Given the description of an element on the screen output the (x, y) to click on. 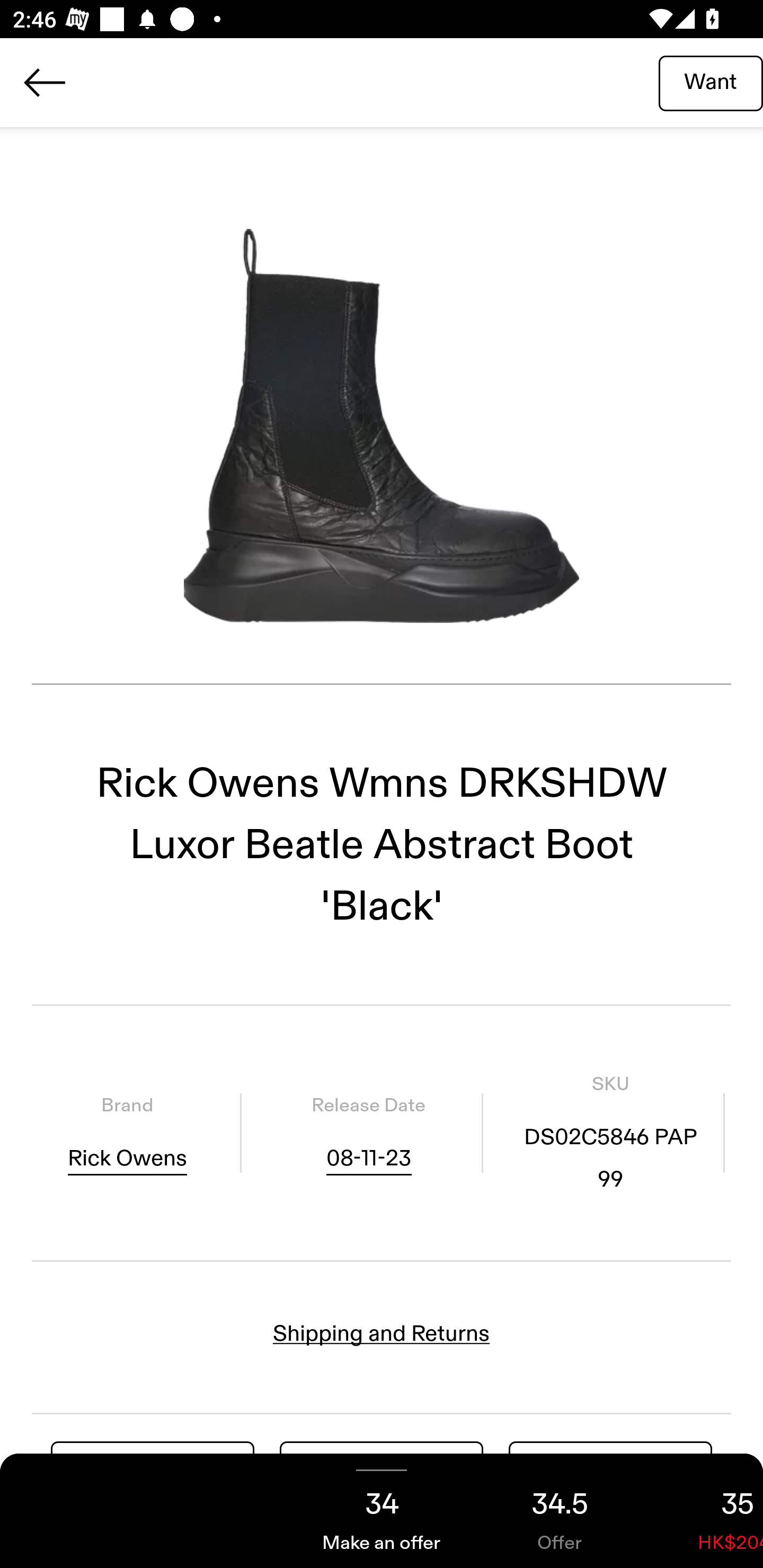
Want (710, 82)
Brand Rick Owens (126, 1133)
Release Date 08-11-23 (368, 1133)
SKU DS02C5846 PAP 99 (609, 1133)
Shipping and Returns (381, 1333)
34 Make an offer (381, 1510)
34.5 Offer (559, 1510)
35 HK$2041 (705, 1510)
